Given the description of an element on the screen output the (x, y) to click on. 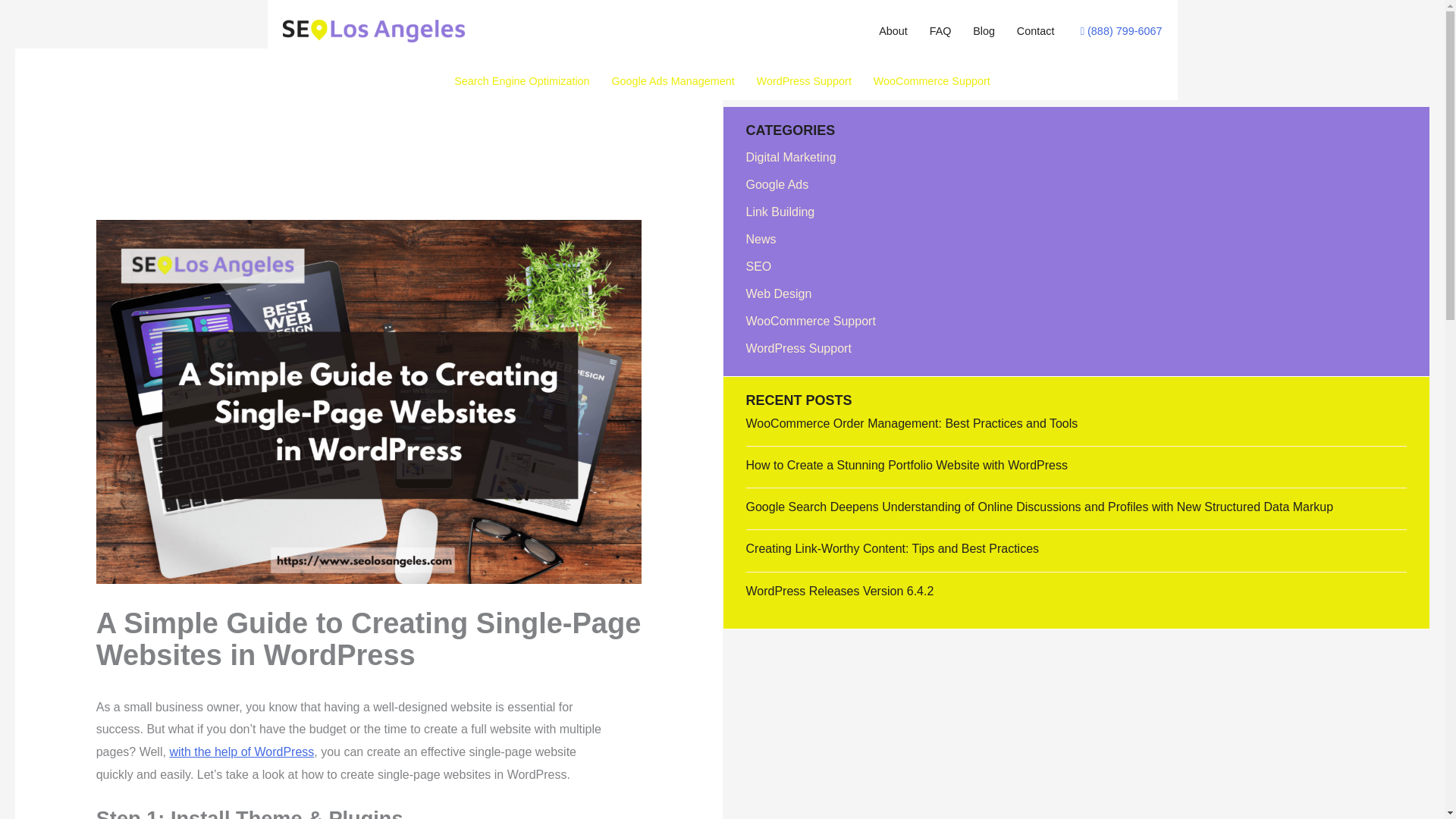
WordPress Support (803, 81)
WooCommerce Support (810, 320)
Digital Marketing (790, 156)
Google Ads (777, 184)
WooCommerce Support (931, 81)
WordPress Support (798, 348)
Google Ads Management (672, 81)
WooCommerce Order Management: Best Practices and Tools (911, 422)
About (892, 30)
SEO (758, 266)
News (760, 238)
Link Building (780, 211)
How to Create a Stunning Portfolio Website with WordPress (906, 464)
WordPress Releases Version 6.4.2 (839, 590)
